Given the description of an element on the screen output the (x, y) to click on. 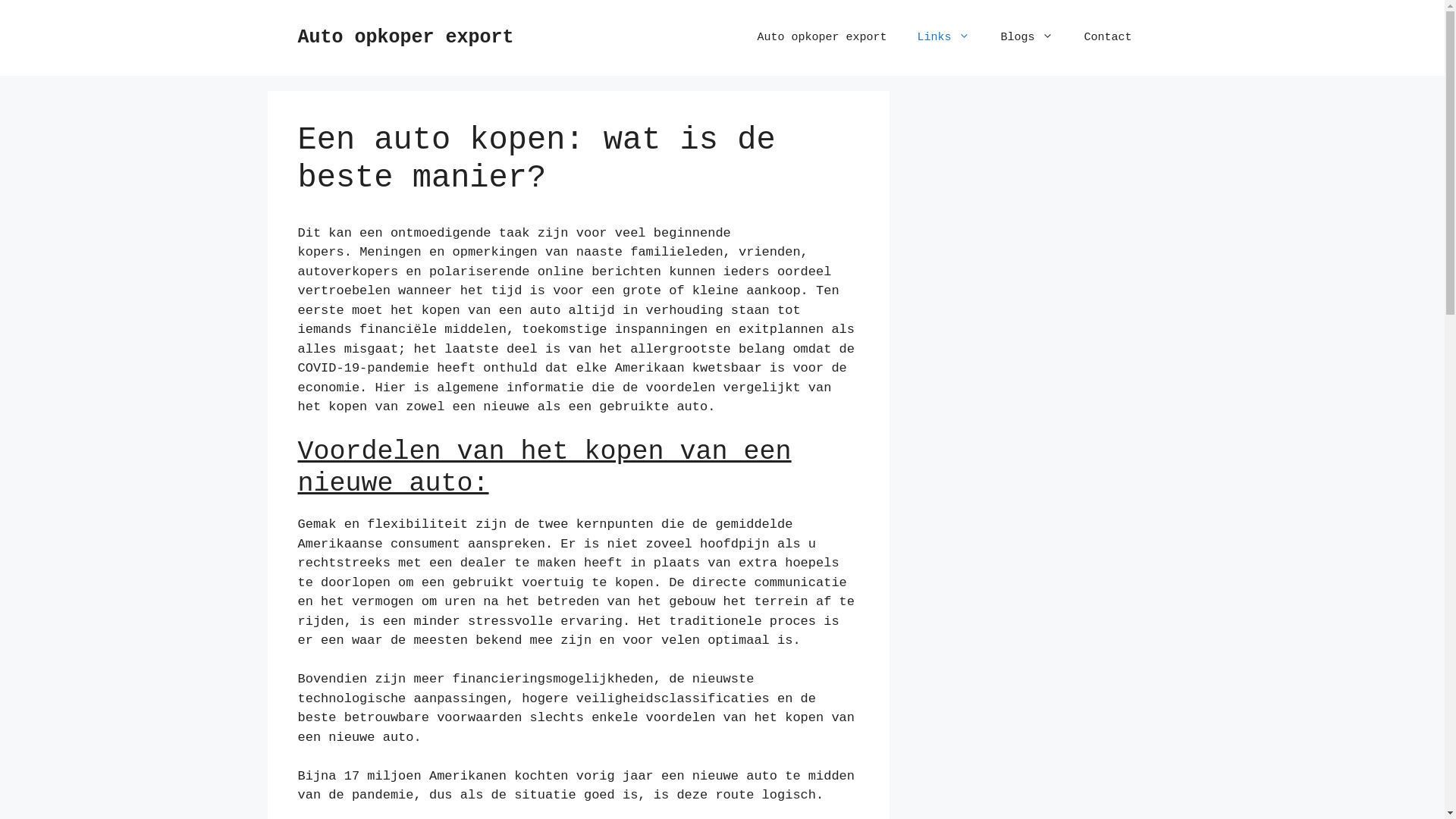
Auto opkoper export Element type: text (821, 37)
Links Element type: text (943, 37)
Blogs Element type: text (1026, 37)
Contact Element type: text (1107, 37)
Auto opkoper export Element type: text (405, 37)
